Given the description of an element on the screen output the (x, y) to click on. 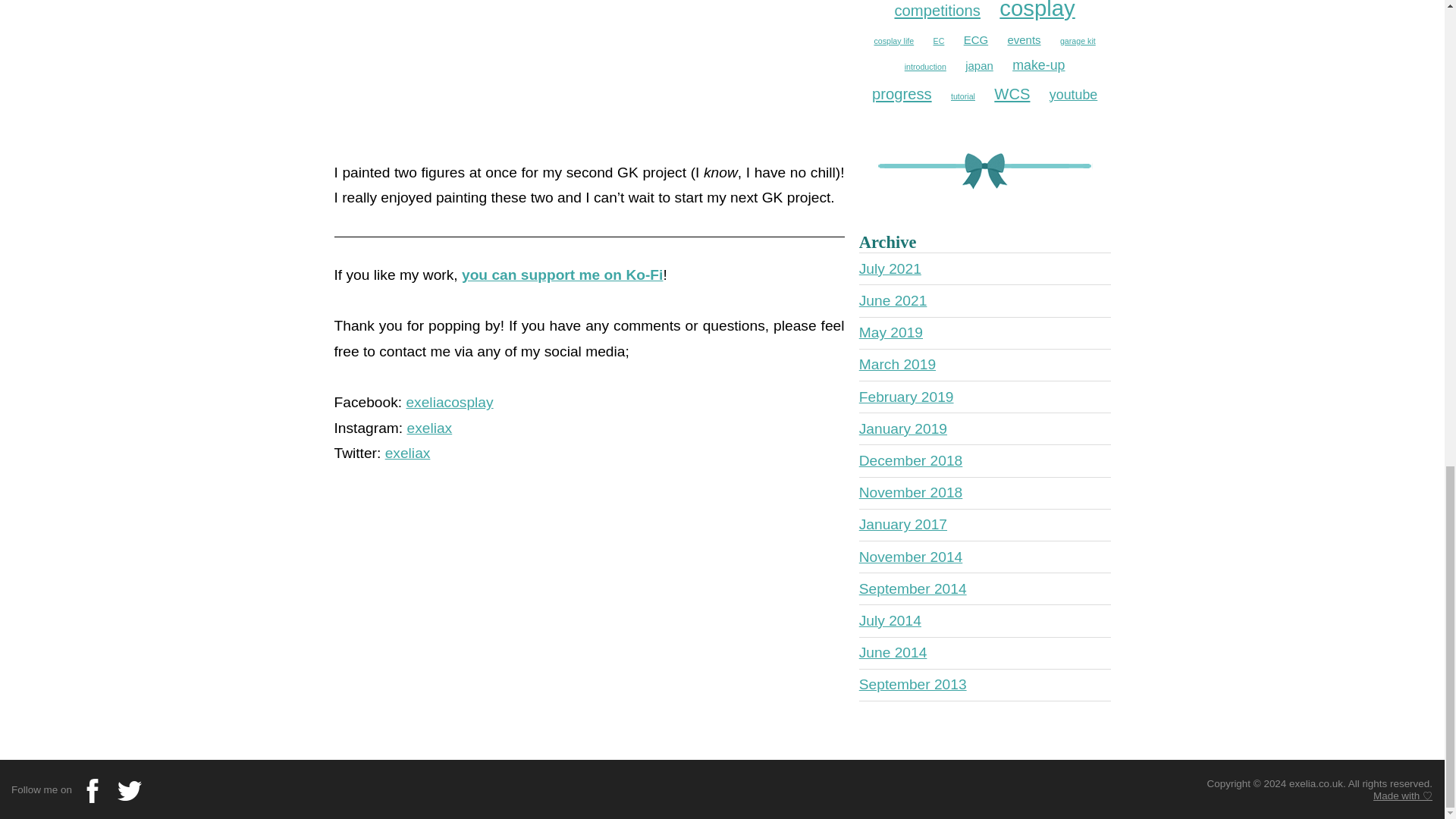
May 2019 (891, 332)
progress (901, 93)
February 2019 (906, 396)
ECG (975, 40)
make-up (1037, 65)
cosplay (1036, 14)
March 2019 (897, 364)
tutorial (962, 96)
introduction (924, 66)
July 2021 (890, 268)
youtube (1073, 94)
exeliax (428, 427)
you can support me on Ko-Fi (561, 274)
WCS (1011, 93)
competitions (937, 12)
